Given the description of an element on the screen output the (x, y) to click on. 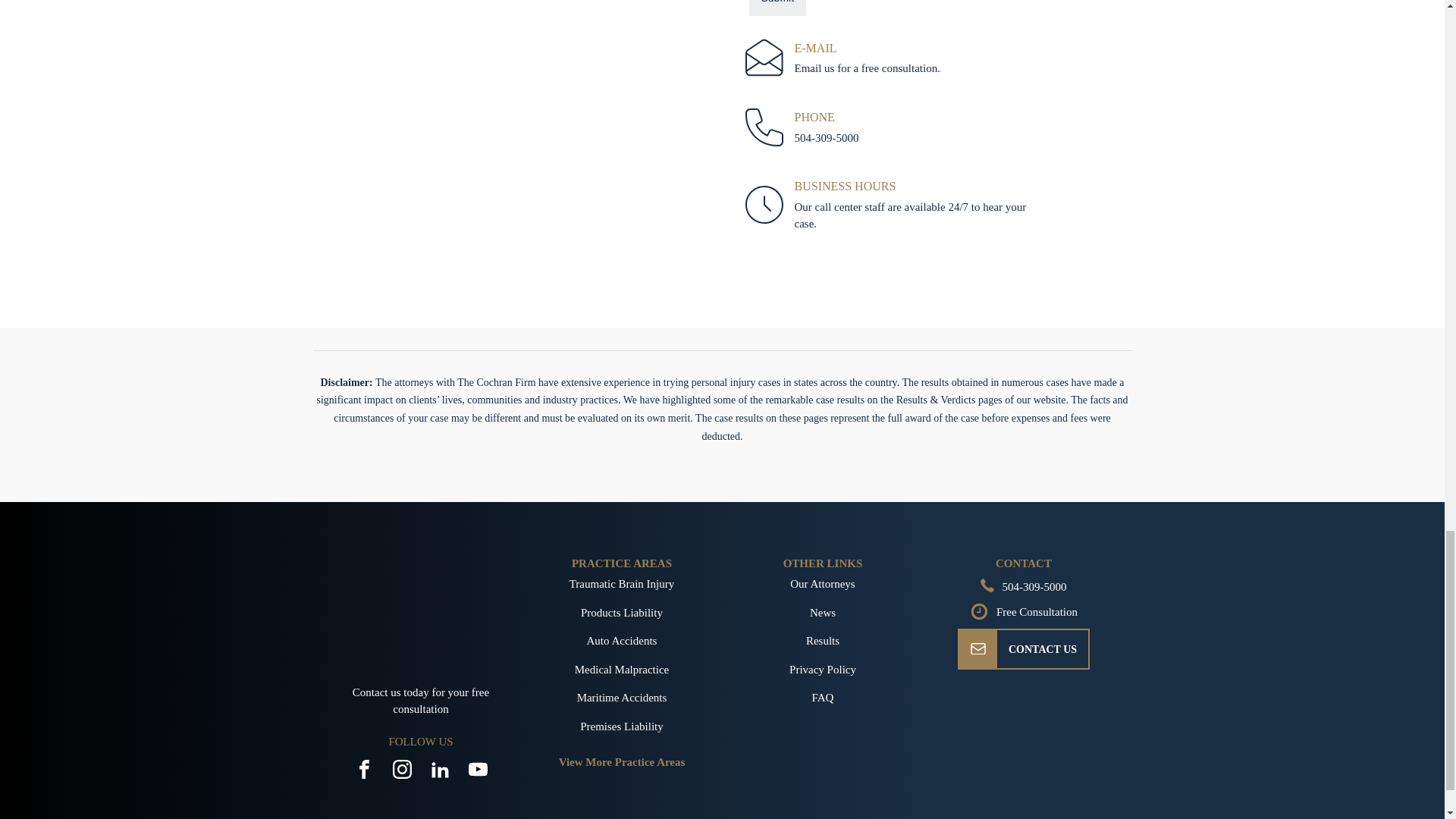
Phone Icon (986, 585)
Submit (777, 7)
Envelope Icon (978, 648)
